Given the description of an element on the screen output the (x, y) to click on. 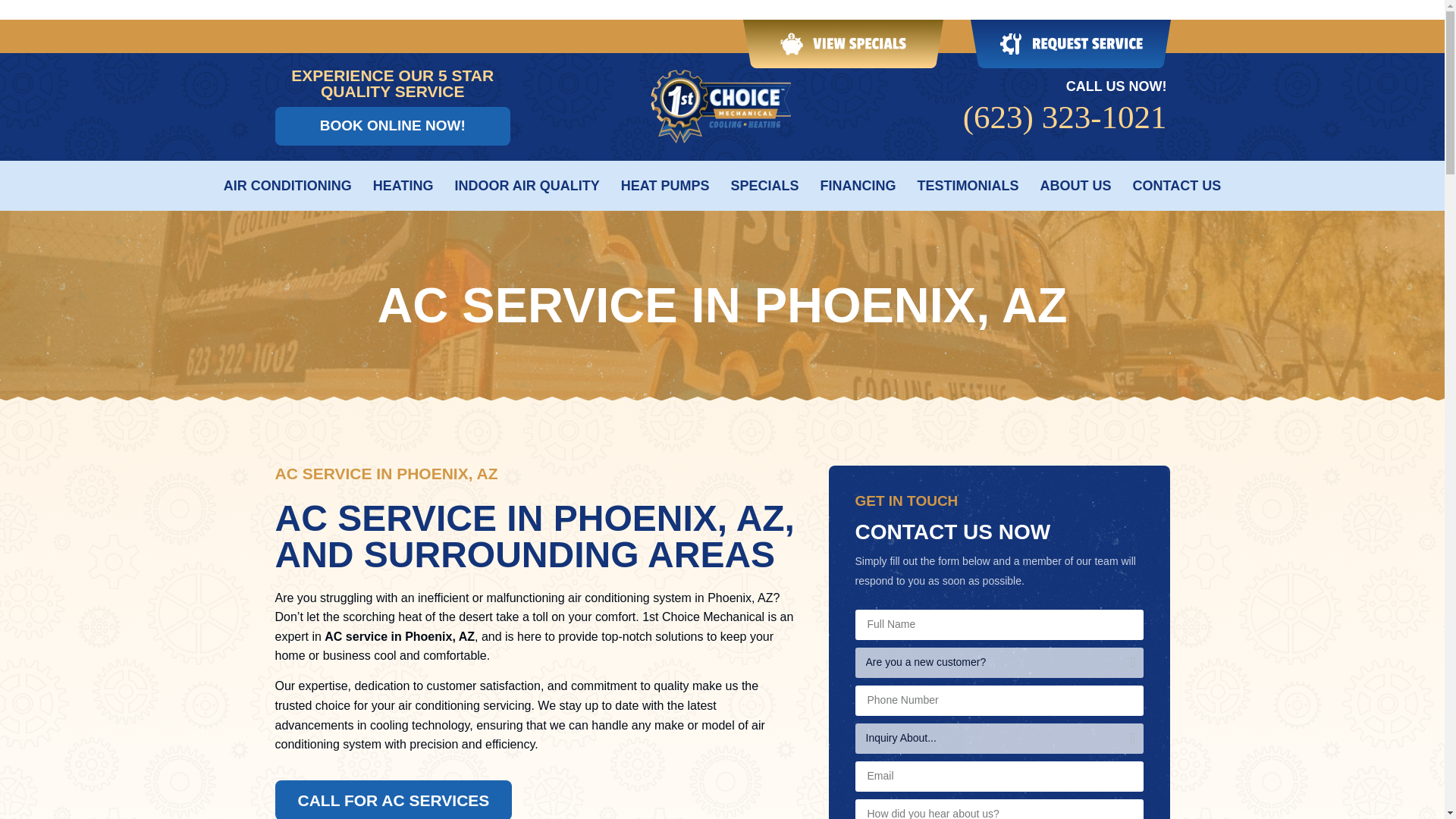
AIR CONDITIONING (288, 185)
FINANCING (858, 185)
TESTIMONIALS (968, 185)
INDOOR AIR QUALITY (526, 185)
HEAT PUMPS (665, 185)
SPECIALS (764, 185)
BOOK ONLINE NOW! (393, 126)
HEATING (402, 185)
ABOUT US (1076, 185)
